Given the description of an element on the screen output the (x, y) to click on. 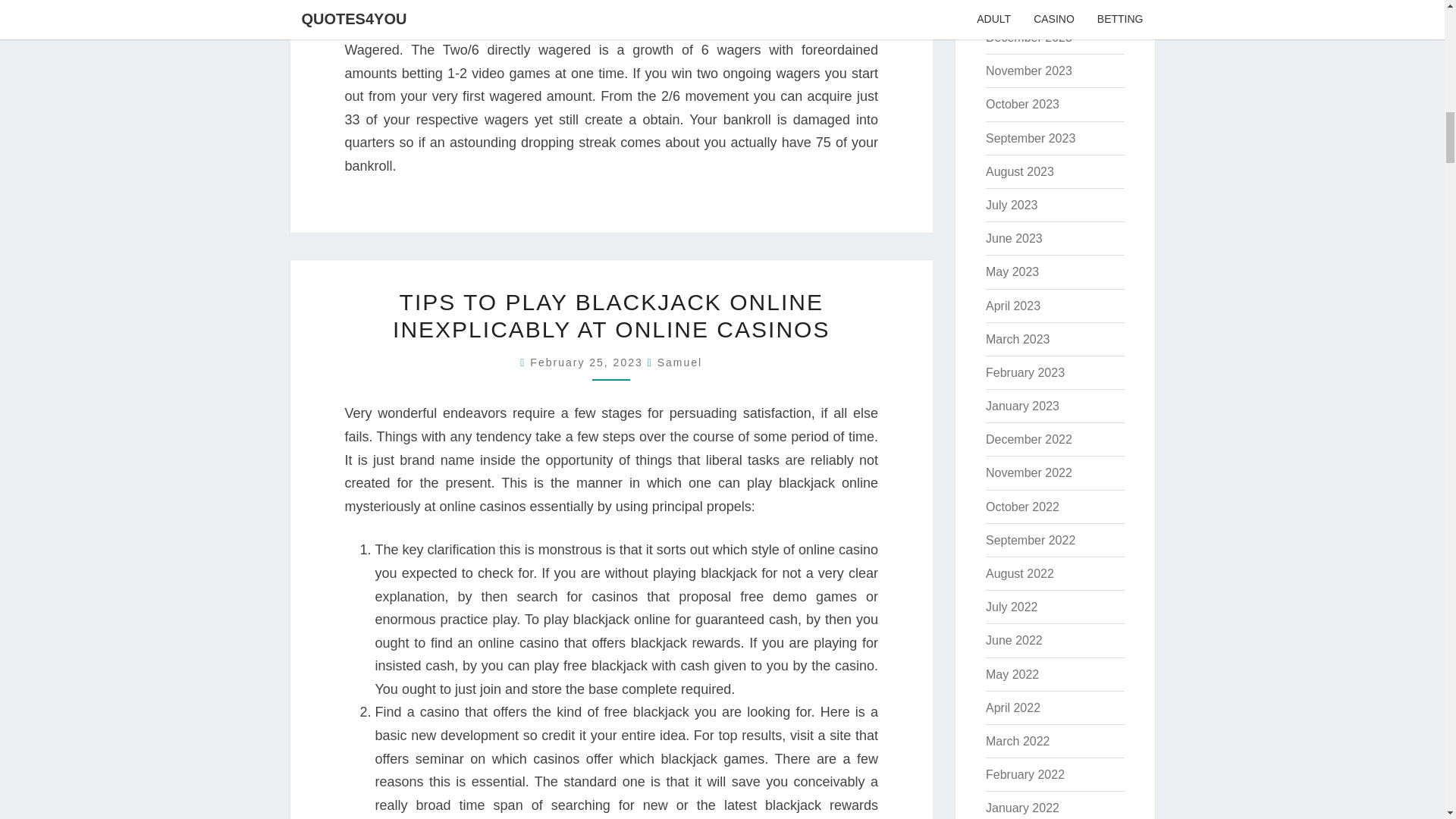
February 25, 2023 (587, 362)
TIPS TO PLAY BLACKJACK ONLINE INEXPLICABLY AT ONLINE CASINOS (611, 315)
11:22 am (587, 362)
View all posts by Samuel (679, 362)
Samuel (679, 362)
